Given the description of an element on the screen output the (x, y) to click on. 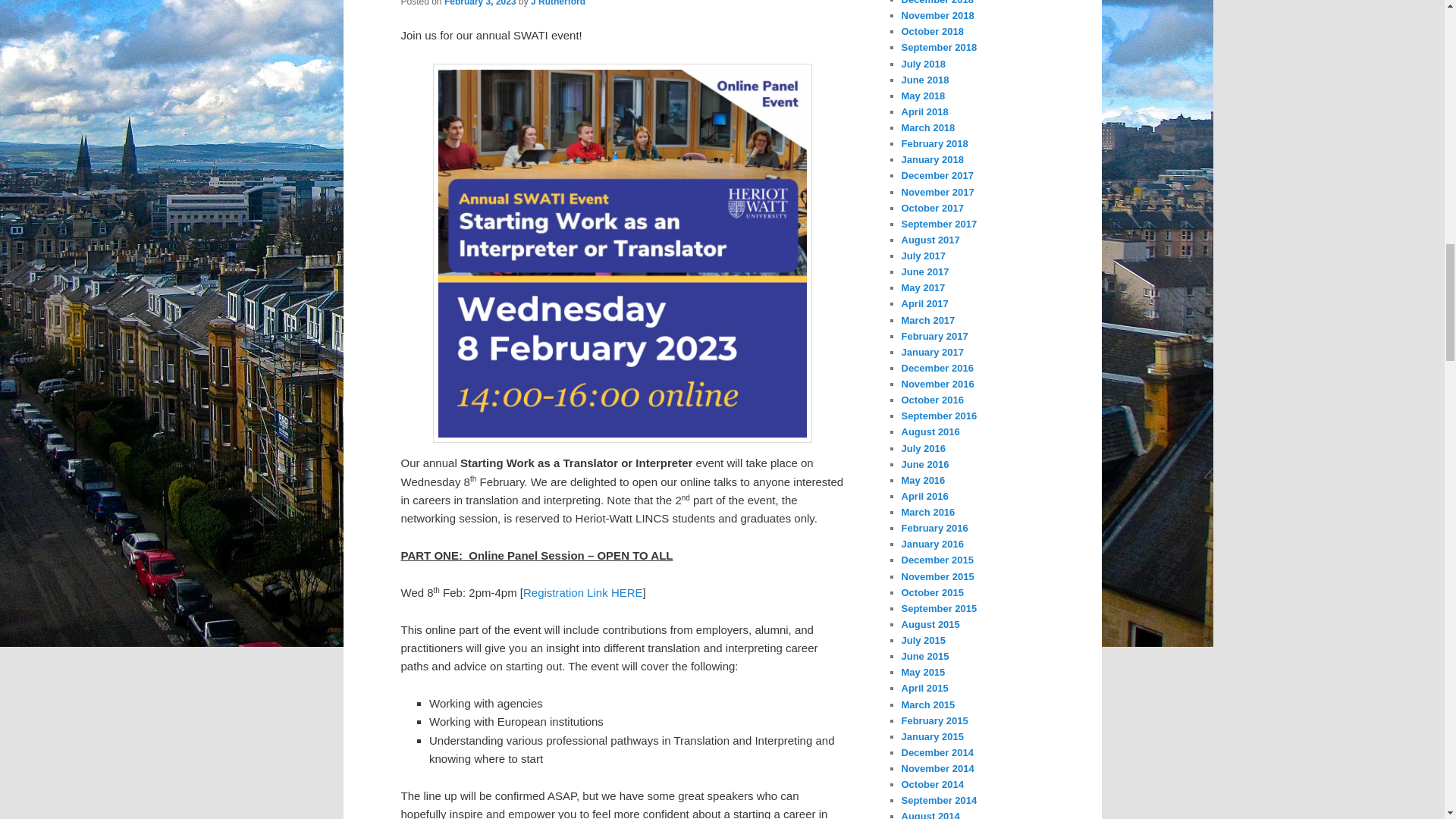
February 3, 2023 (480, 3)
J Rutherford (558, 3)
Registration Link HERE (582, 592)
